Given the description of an element on the screen output the (x, y) to click on. 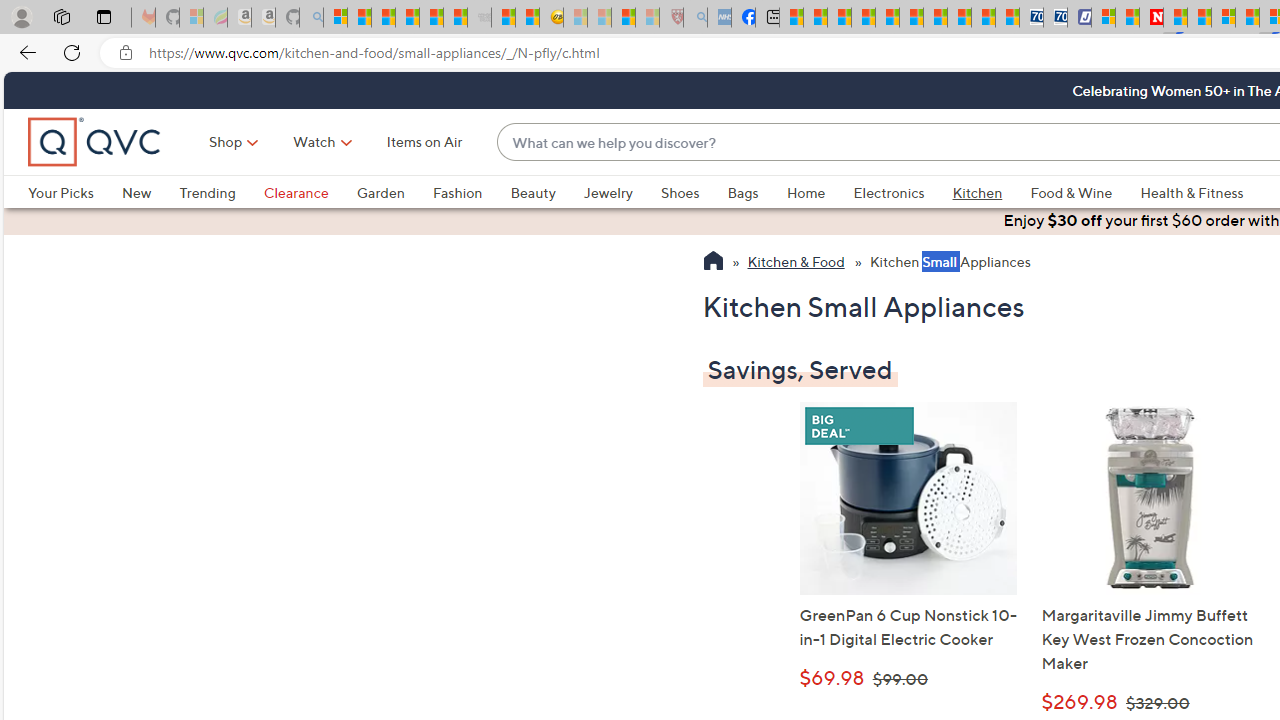
Cheap Hotels - Save70.com (1055, 17)
New Report Confirms 2023 Was Record Hot | Watch (430, 17)
Bags (757, 192)
Kitchen (977, 192)
Items on Air (424, 141)
Garden (393, 192)
New (150, 192)
